Given the description of an element on the screen output the (x, y) to click on. 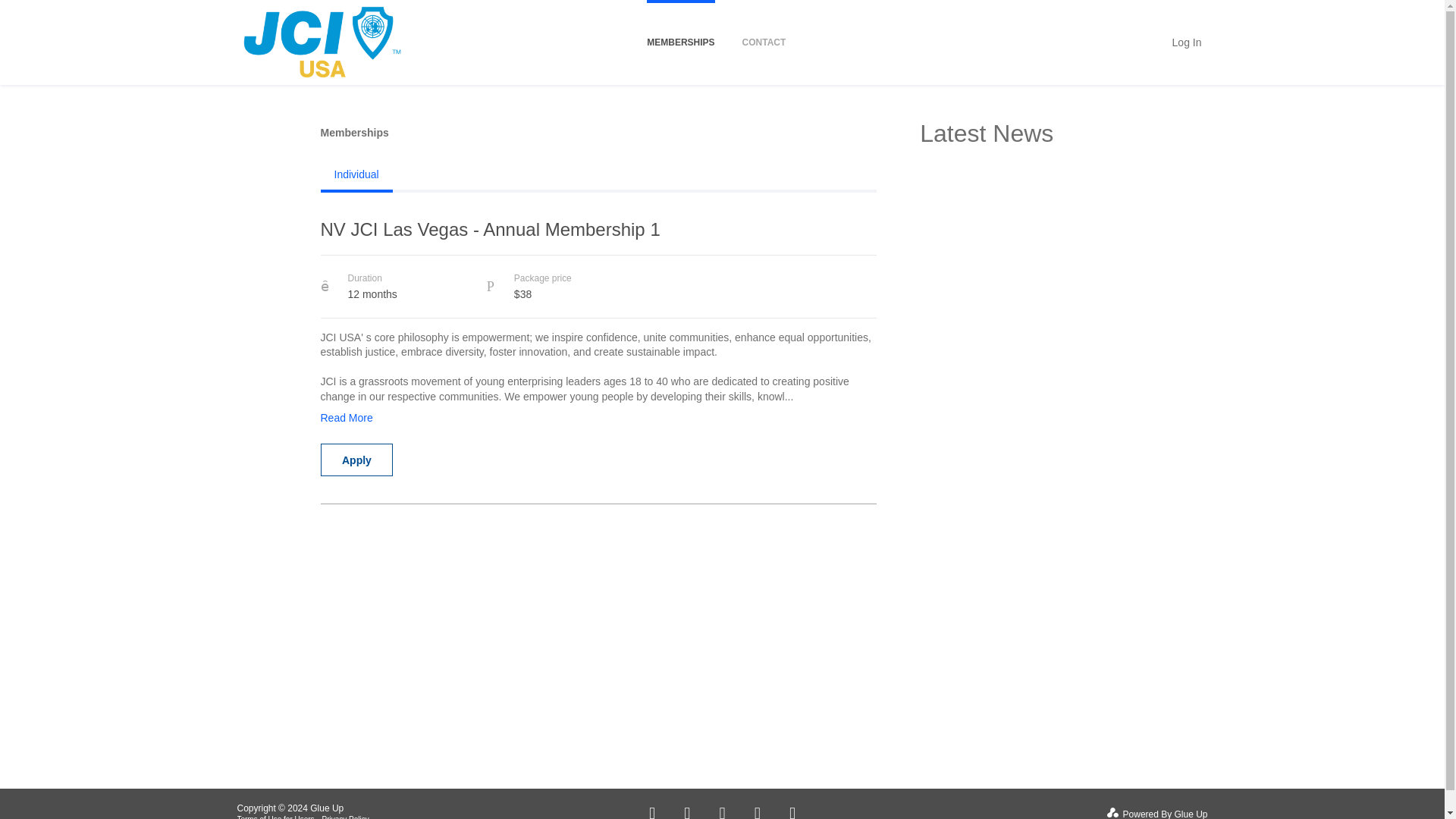
NV JCI Las Vegas - Annual Membership 1 (598, 236)
Apply (356, 459)
JCI Las Vegas logo (320, 42)
Terms of Use for Users (274, 816)
Read More (346, 414)
Privacy Policy (345, 816)
Individual (355, 173)
